Given the description of an element on the screen output the (x, y) to click on. 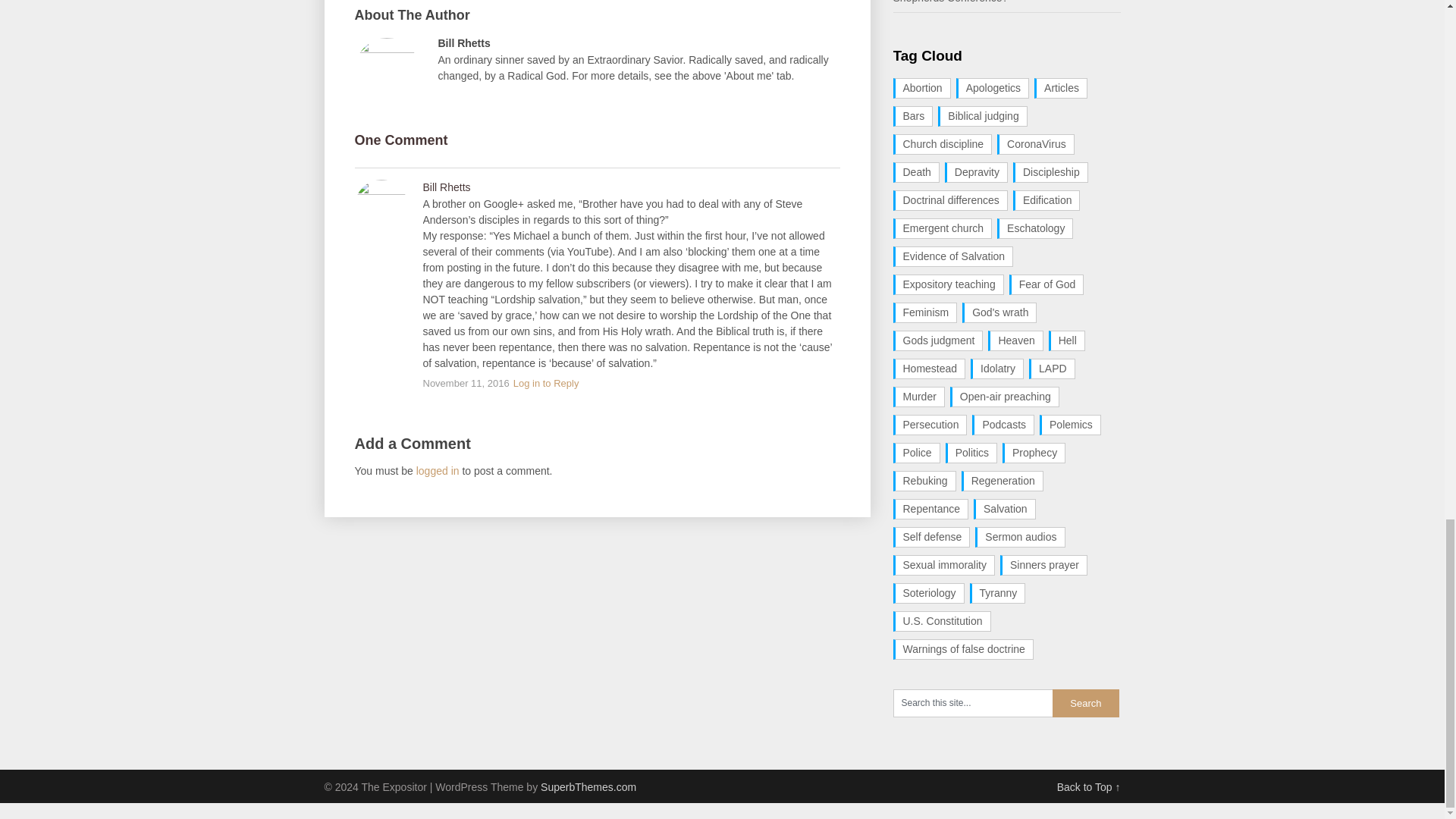
Search (1085, 703)
Search this site... (972, 703)
